Given the description of an element on the screen output the (x, y) to click on. 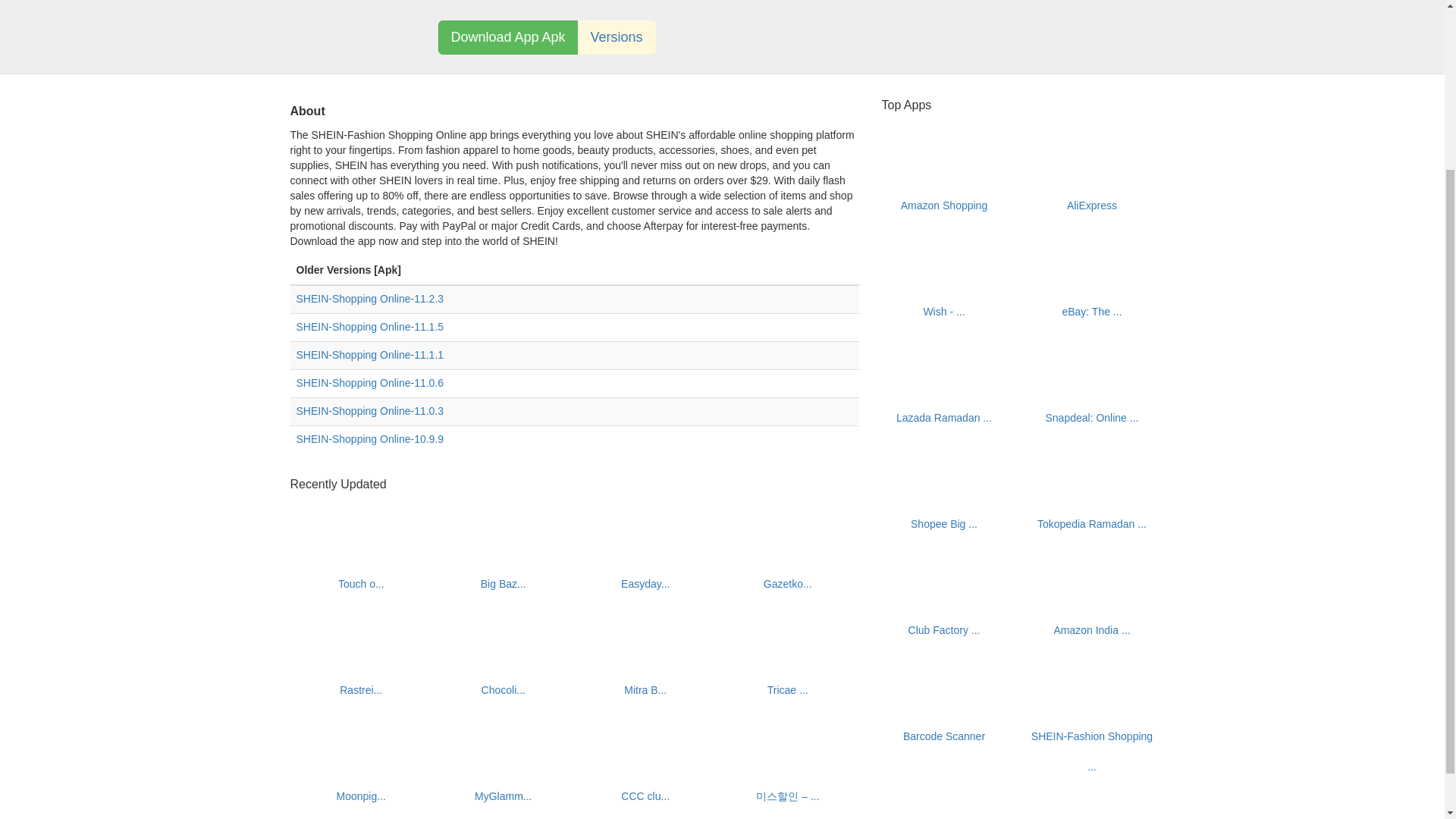
SHEIN-Shopping Online-11.2.3 (369, 298)
Big Baz... (502, 583)
MyGlamm... (502, 796)
Touch o... (360, 583)
Gazetko... (787, 583)
Download App Apk (508, 37)
Chocolife.me apk for android (503, 689)
Rastrei... (360, 689)
Chocolife.me apk for android (503, 635)
Touch of Modern: Shopping apk for android (360, 583)
